Given the description of an element on the screen output the (x, y) to click on. 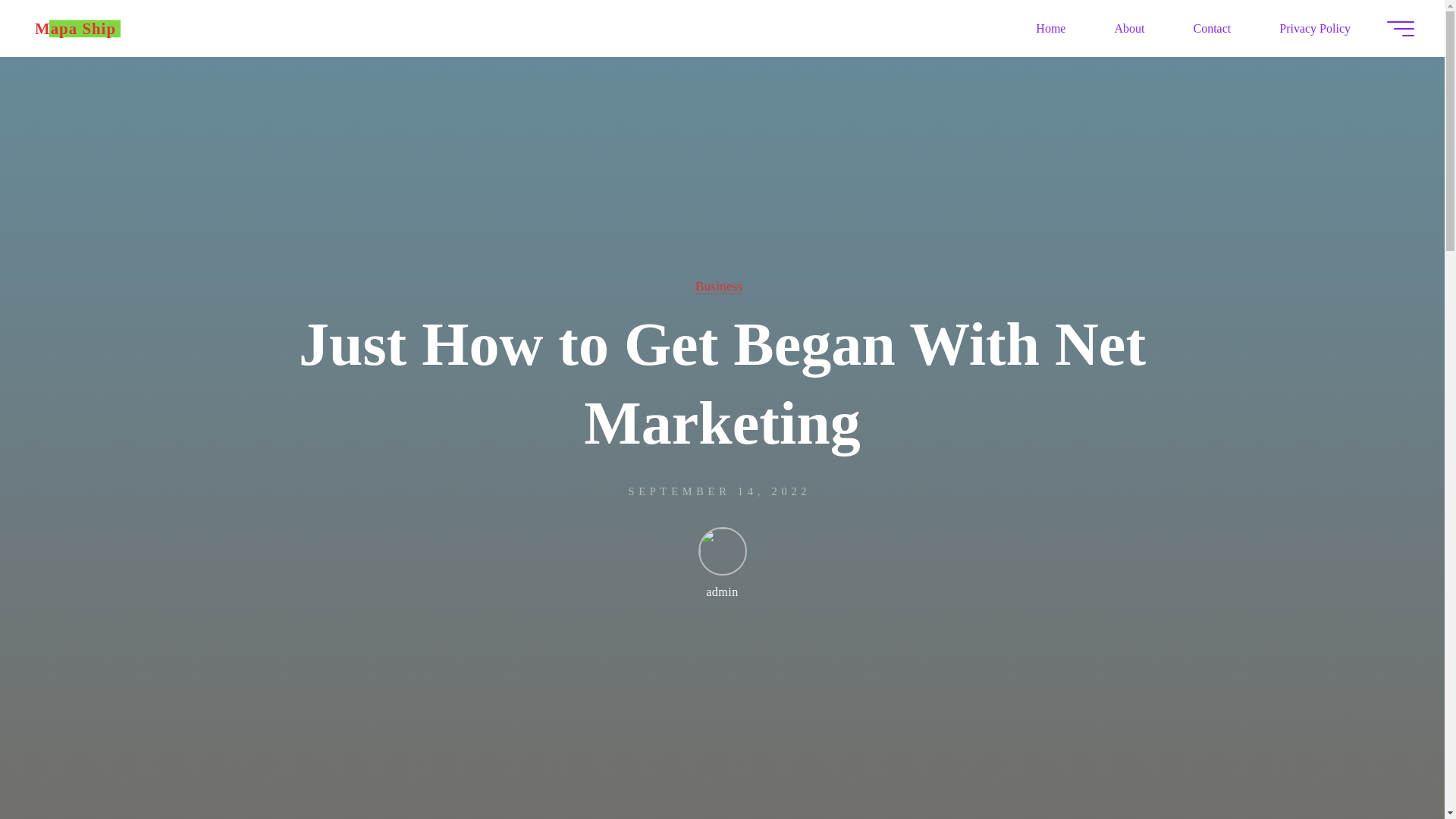
Business (718, 286)
Mapa Ship (75, 27)
Read more (721, 781)
Contact (1212, 28)
Blog Site (75, 27)
Home (1050, 28)
Privacy Policy (1314, 28)
About (1129, 28)
